Given the description of an element on the screen output the (x, y) to click on. 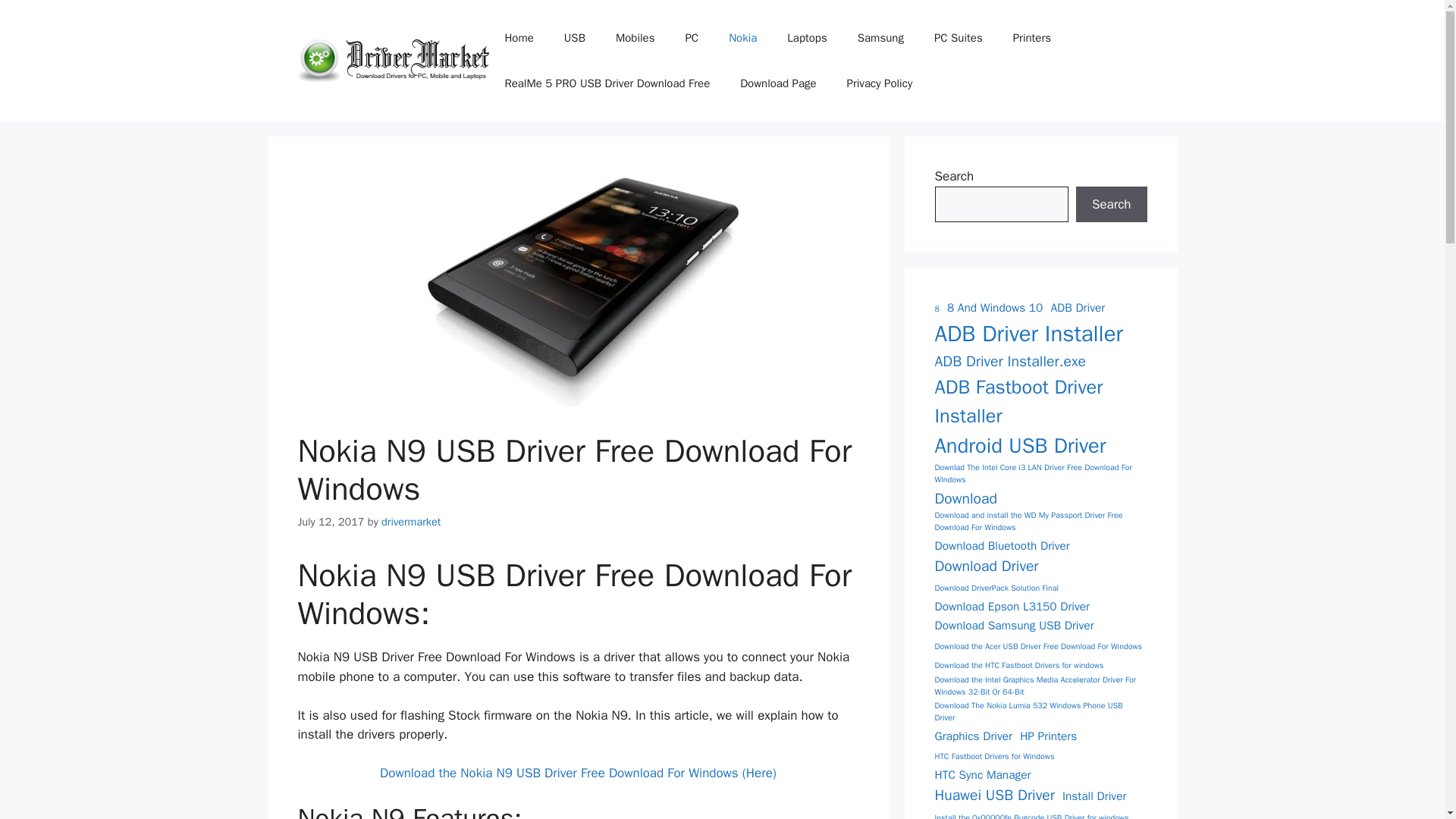
RealMe 5 PRO USB Driver Download Free (607, 83)
Android USB Driver (1019, 445)
drivermarket (411, 521)
Printers (1031, 37)
Nokia (742, 37)
Privacy Policy (879, 83)
Download (964, 498)
Samsung (880, 37)
Mobiles (634, 37)
Home (518, 37)
